Given the description of an element on the screen output the (x, y) to click on. 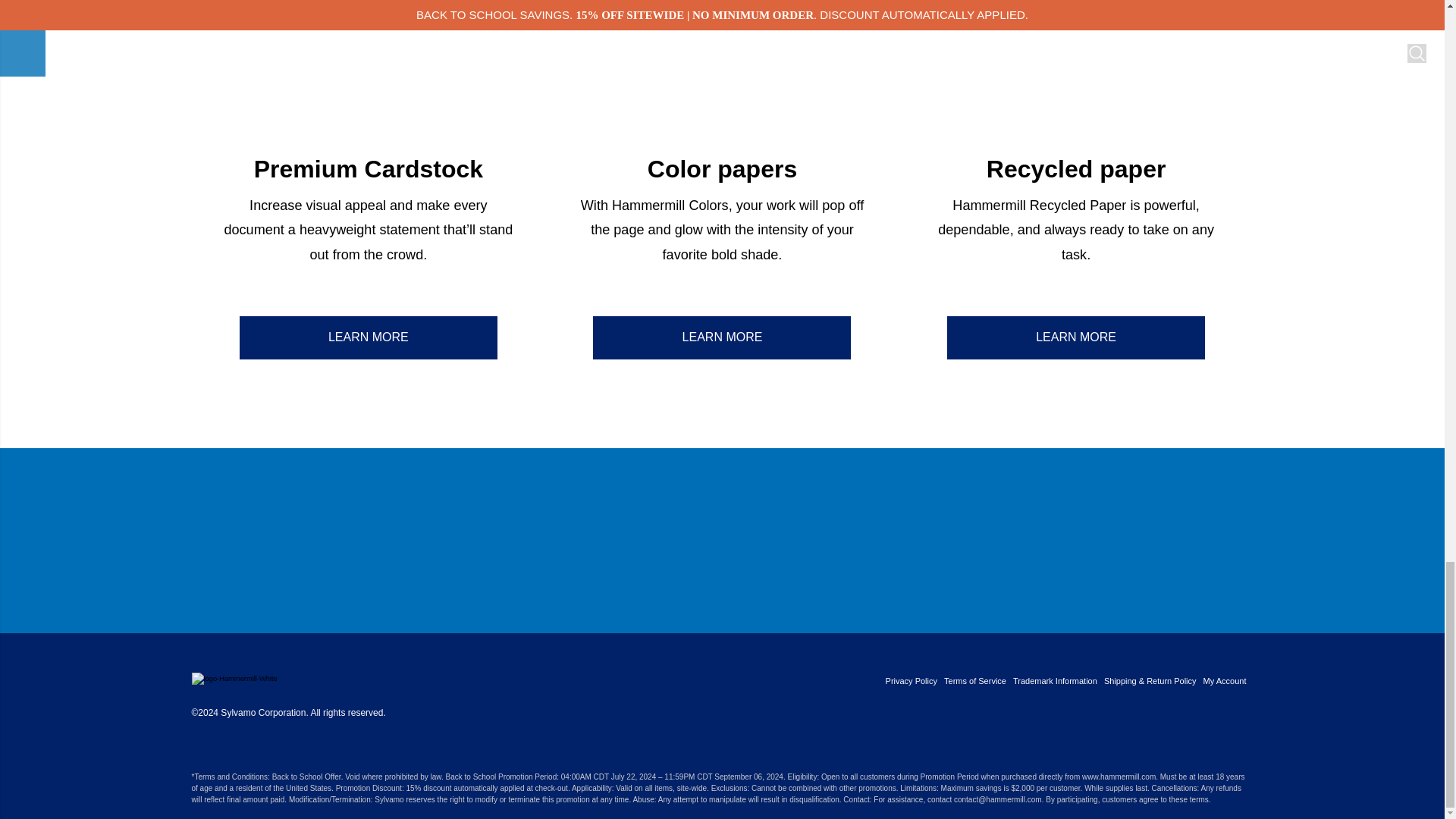
Privacy Policy (911, 681)
LEARN MORE (721, 337)
LEARN MORE (1076, 337)
Terms of Service (974, 681)
LEARN MORE (368, 337)
Submit (1279, 541)
